Given the description of an element on the screen output the (x, y) to click on. 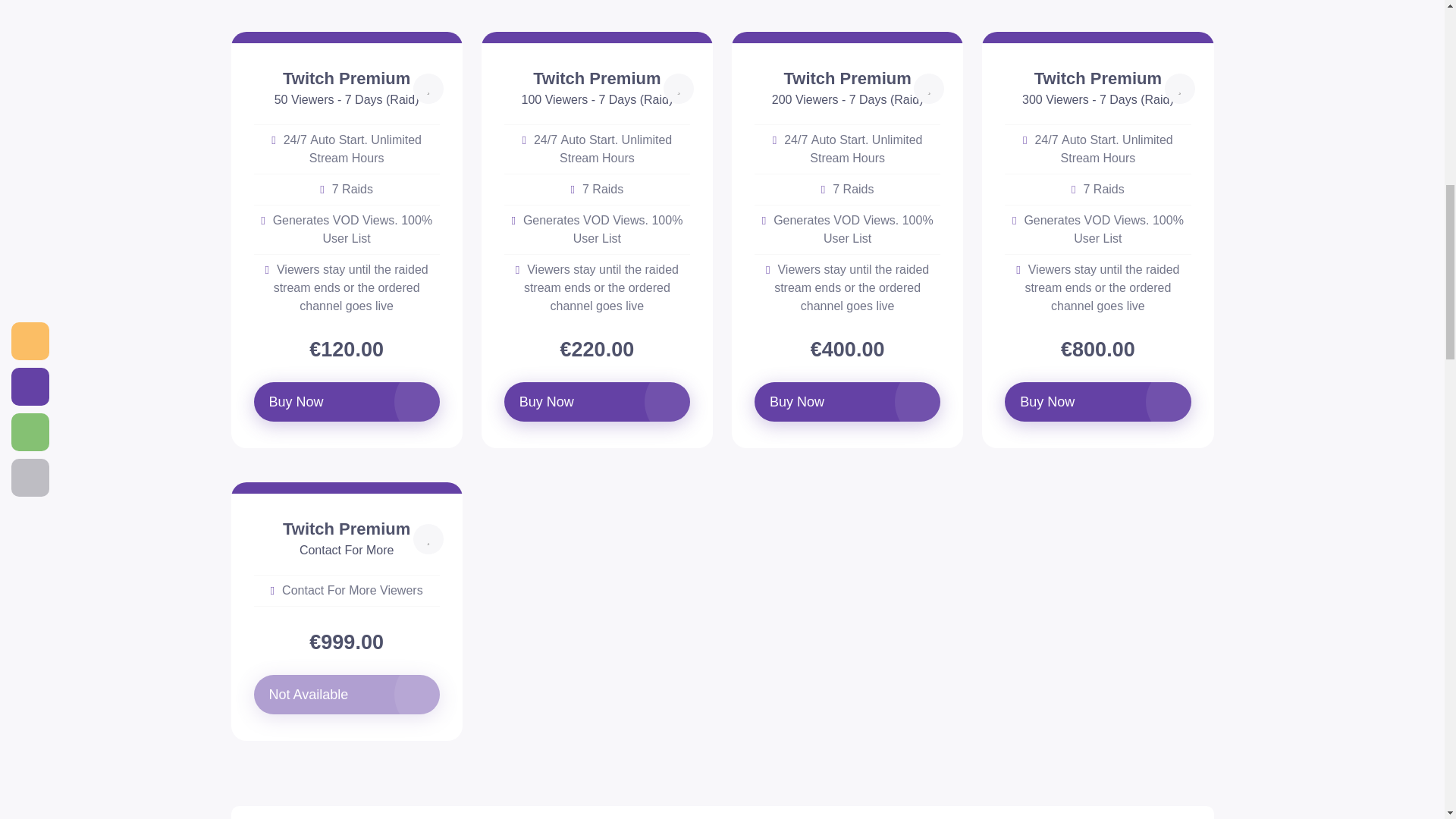
Add Favorites! (1179, 88)
Add Favorites! (678, 88)
Add Favorites! (928, 88)
Add Favorites! (428, 539)
Add Favorites! (428, 88)
